Given the description of an element on the screen output the (x, y) to click on. 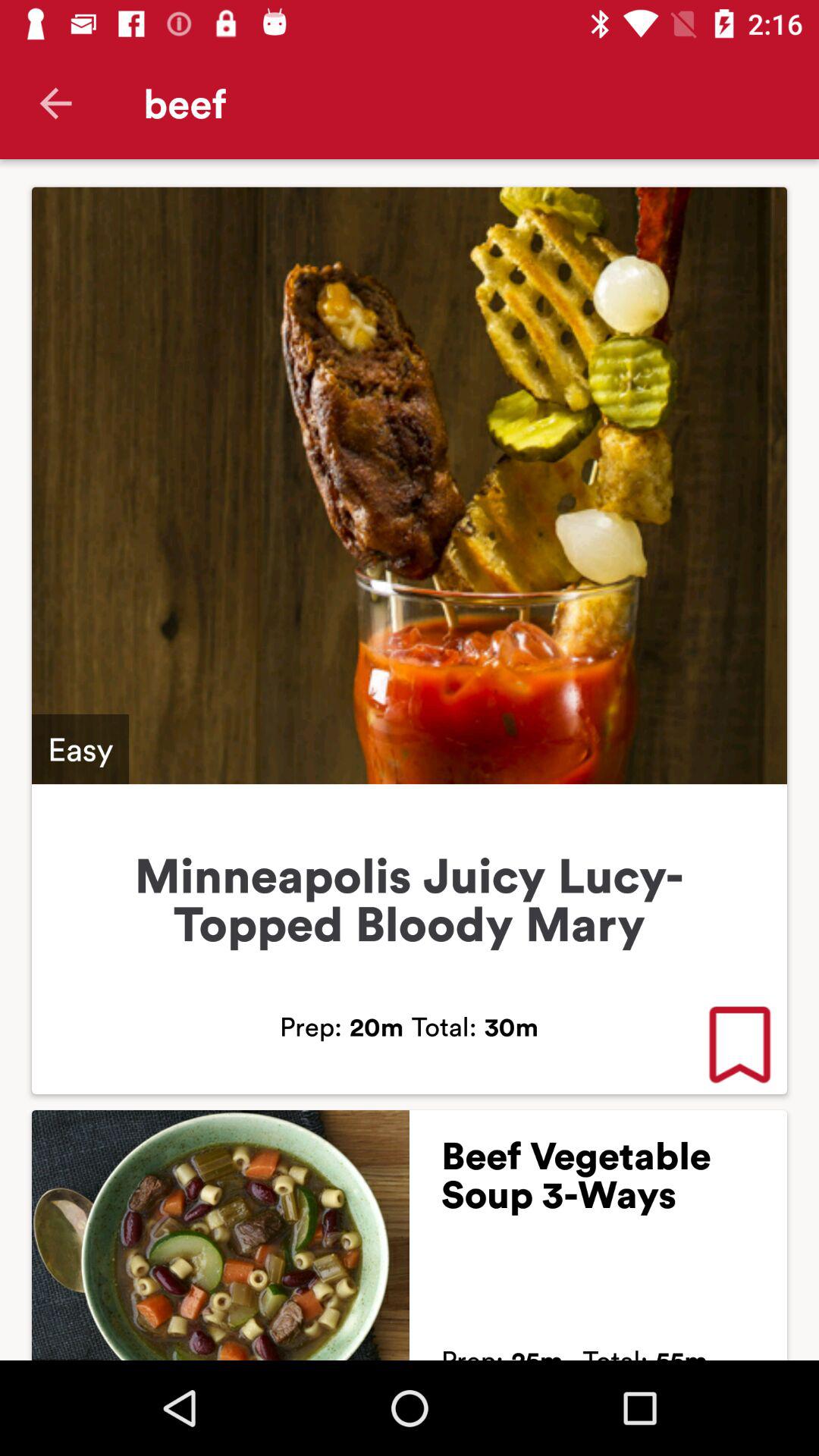
launch icon to the left of beef (55, 103)
